Given the description of an element on the screen output the (x, y) to click on. 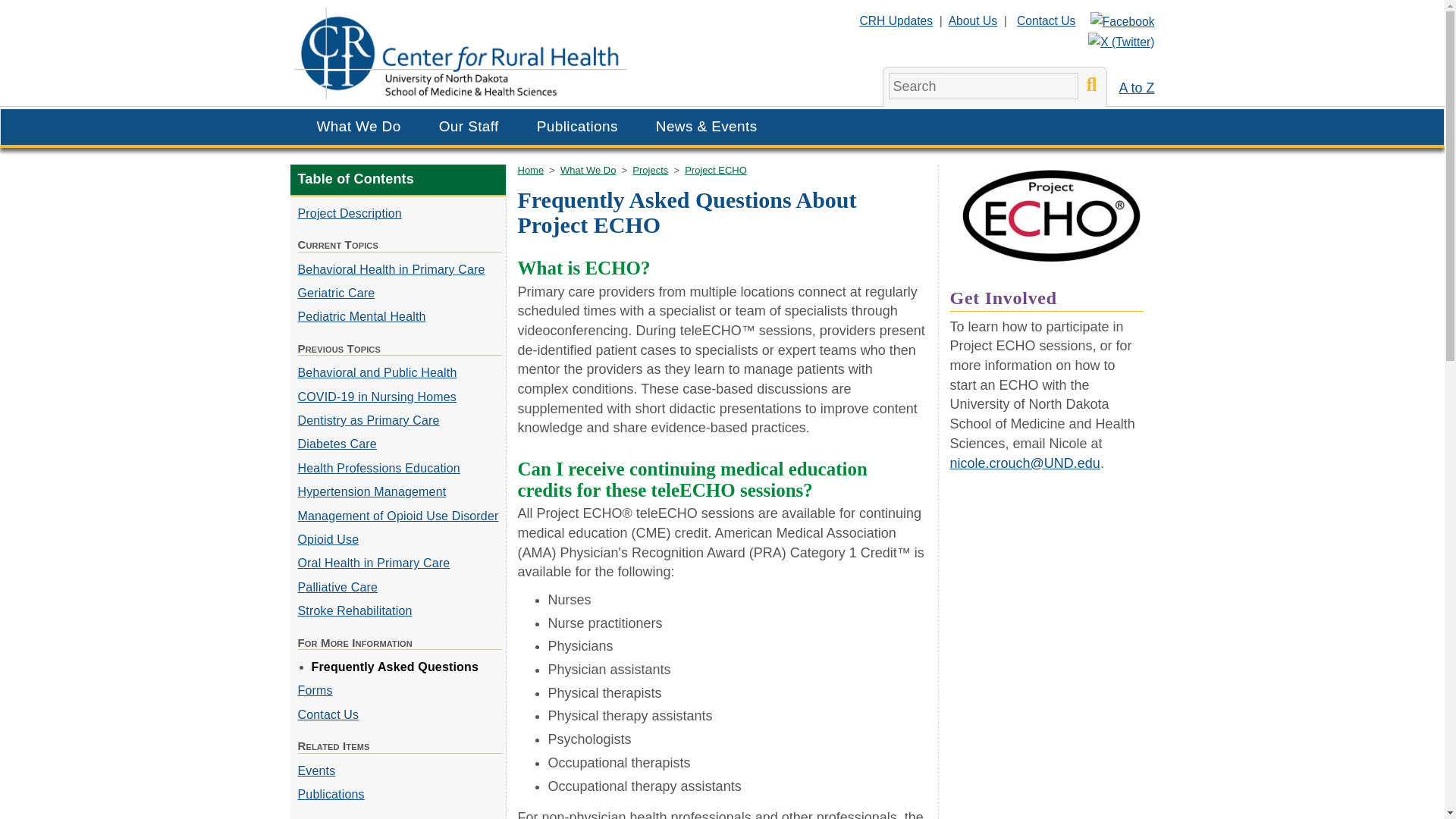
Diabetes Care (336, 443)
About Us (973, 20)
Publications (576, 124)
Opioid Use (327, 539)
What We Do (358, 124)
Management of Opioid Use Disorder (397, 515)
Events (315, 770)
Hypertension Management (371, 491)
Home (529, 170)
Stroke Rehabilitation (354, 610)
